Given the description of an element on the screen output the (x, y) to click on. 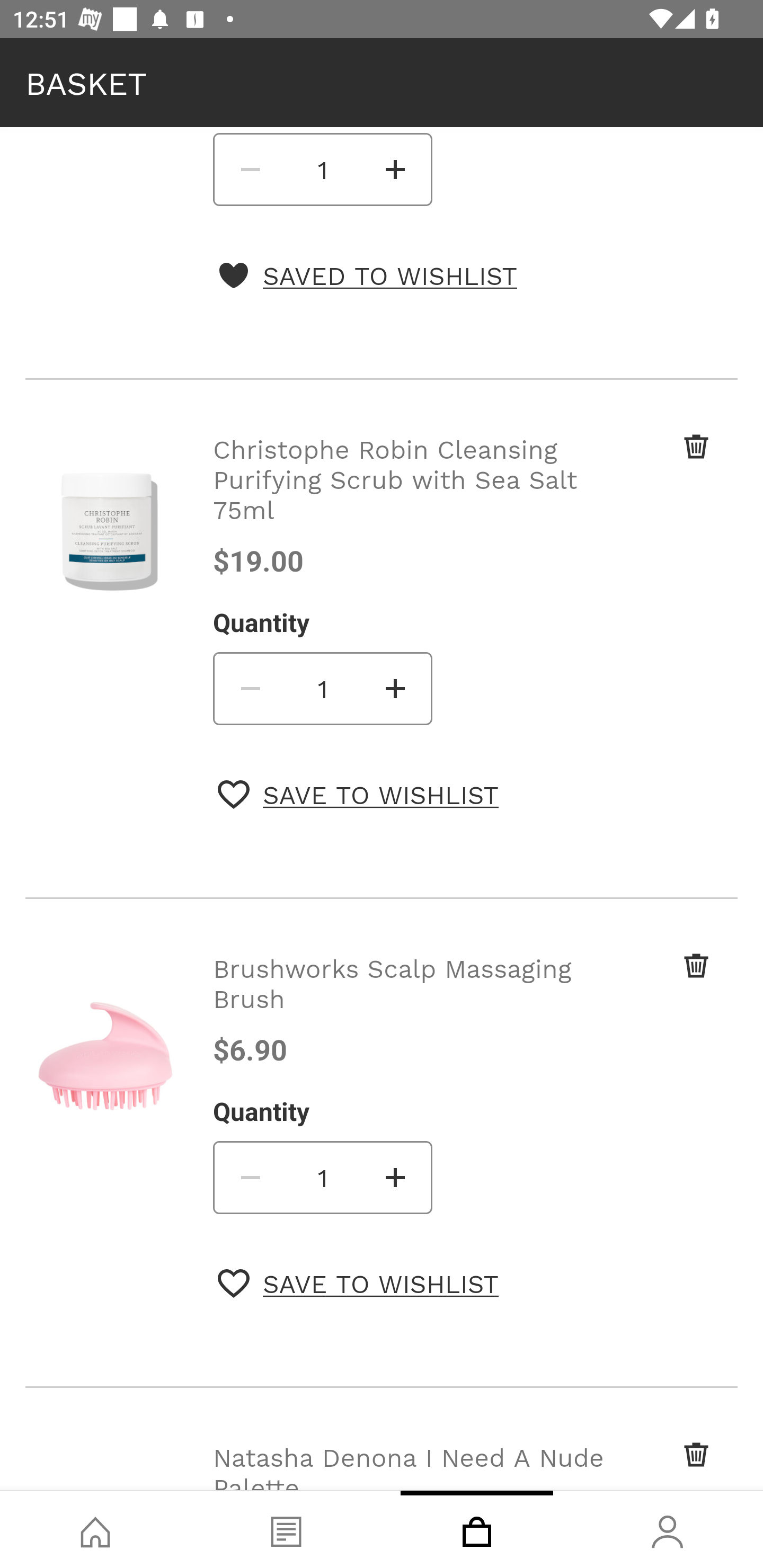
Decrease quantity (249, 169)
Increase quantity (395, 169)
Saved to Wishlist SAVED TO WISHLIST (366, 275)
Remove this item (661, 467)
Decrease quantity (249, 688)
Increase quantity (395, 688)
Save to Wishlist SAVE TO WISHLIST (357, 794)
Brushworks Scalp Massaging Brush $6.90 (412, 1008)
Remove this item (661, 983)
Decrease quantity (249, 1177)
Increase quantity (395, 1177)
Save to Wishlist SAVE TO WISHLIST (357, 1283)
Remove this item (661, 1464)
Shop, tab, 1 of 4 (95, 1529)
Blog, tab, 2 of 4 (285, 1529)
Basket, tab, 3 of 4 (476, 1529)
Account, tab, 4 of 4 (667, 1529)
